Given the description of an element on the screen output the (x, y) to click on. 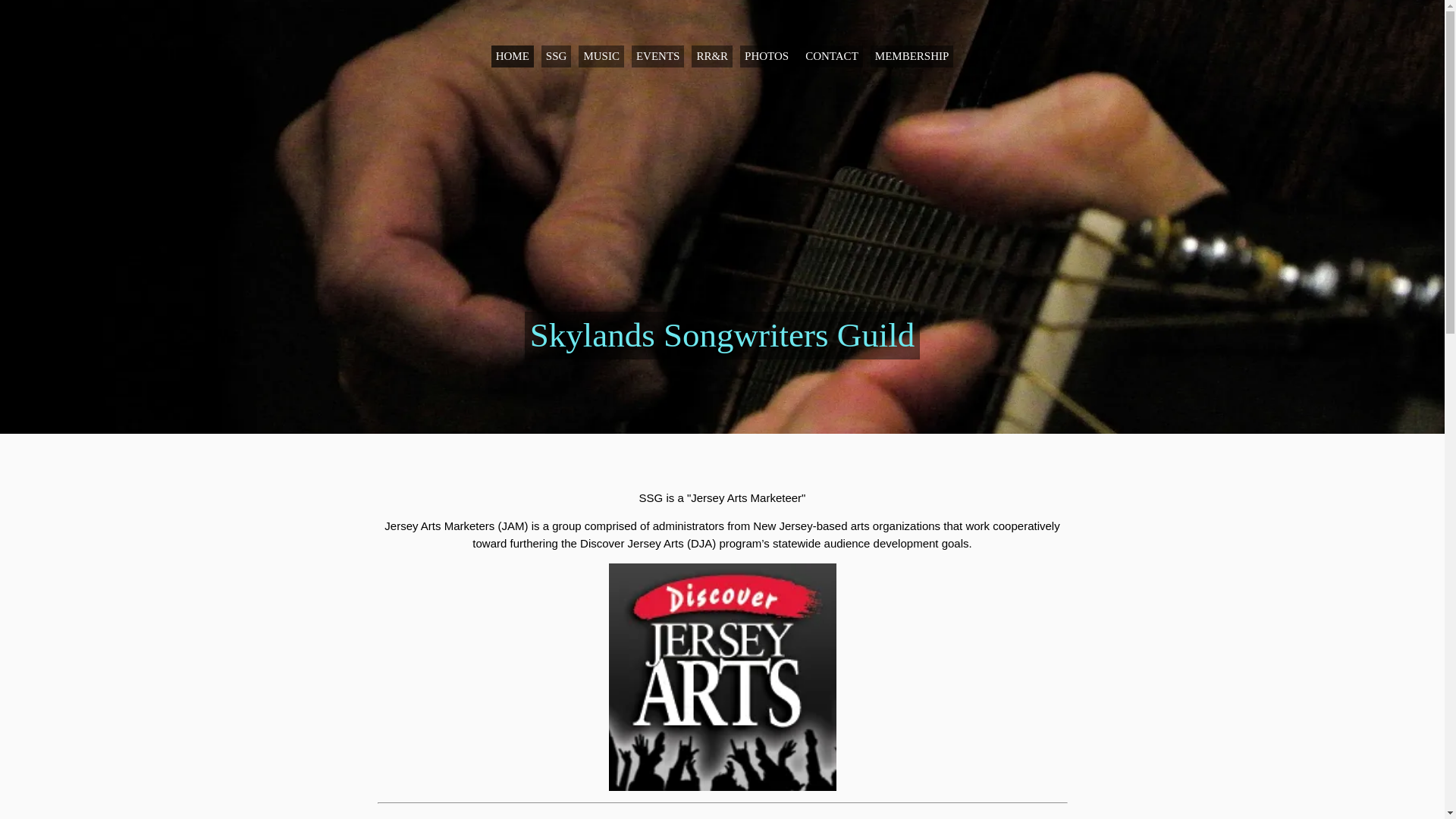
HOME (513, 56)
PHOTOS (766, 56)
MEMBERSHIP (911, 56)
CONTACT (831, 56)
Skylands Songwriters Guild (722, 339)
SSG (556, 56)
MUSIC (601, 56)
EVENTS (657, 56)
